Given the description of an element on the screen output the (x, y) to click on. 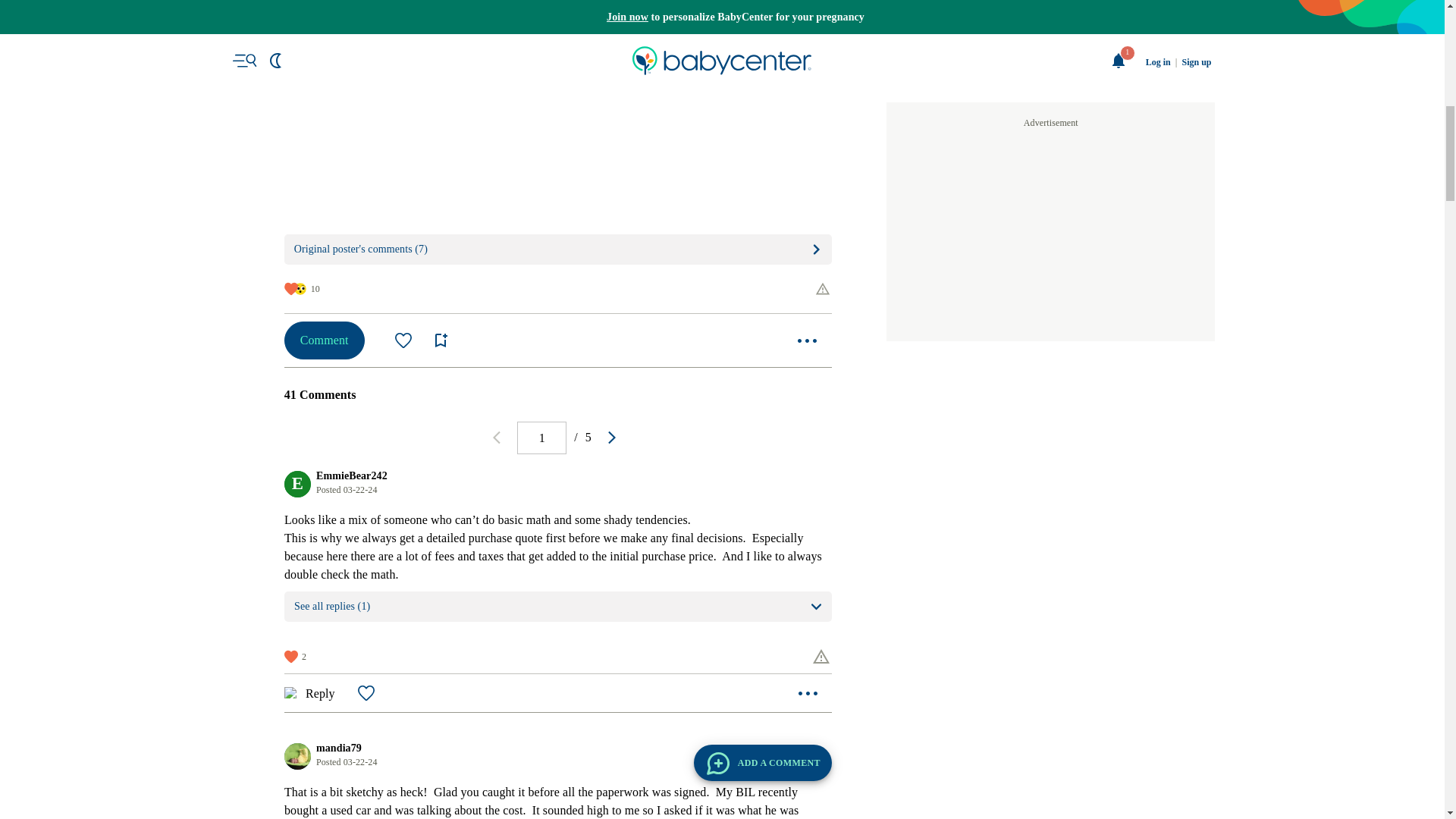
Go to page number (541, 437)
1 (541, 437)
